Given the description of an element on the screen output the (x, y) to click on. 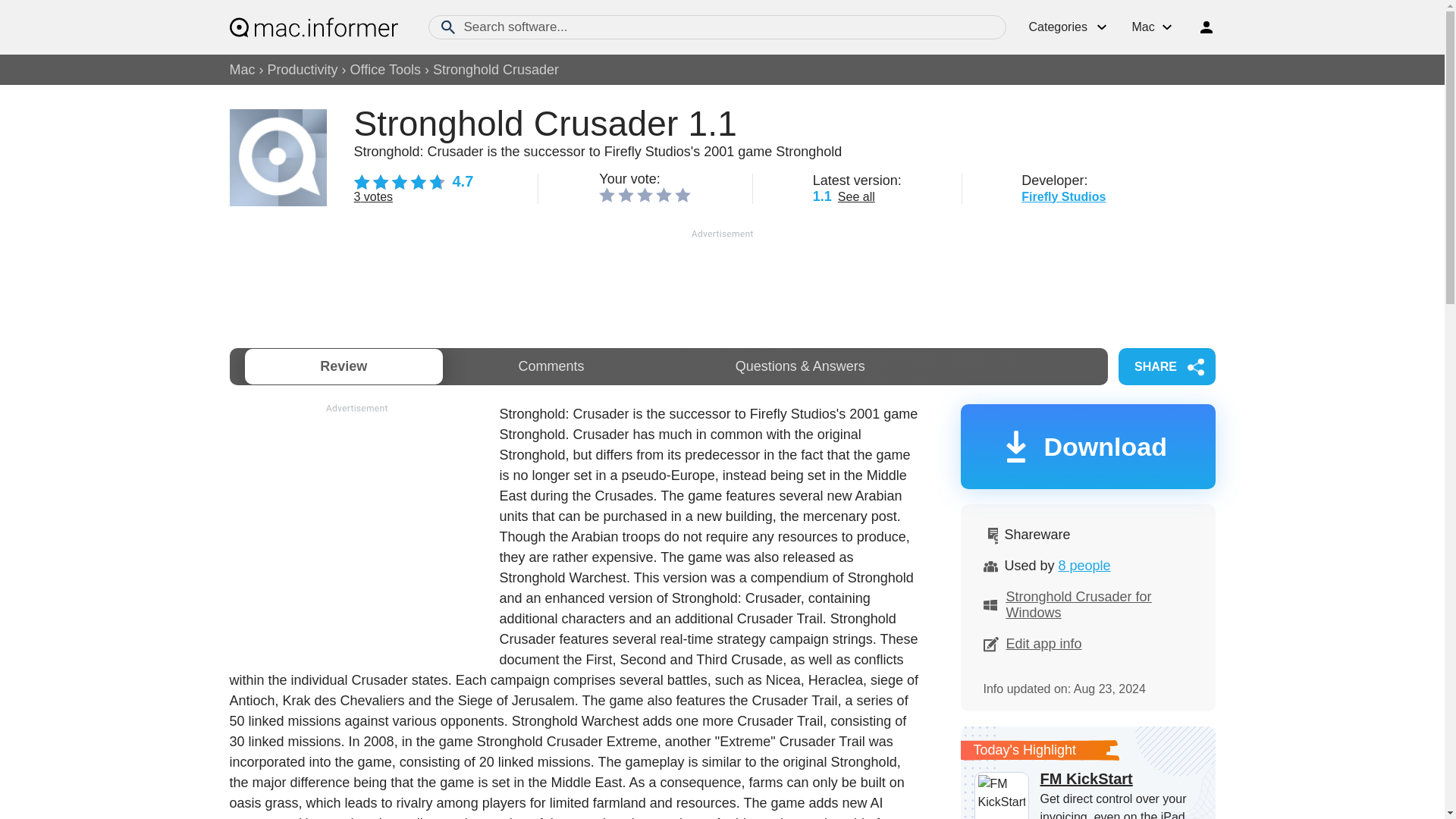
Review (343, 366)
Software downloads and reviews (312, 26)
Review (343, 366)
Stronghold Crusader (495, 69)
Comments (550, 366)
Advertisement (355, 522)
Search (447, 27)
1 (605, 193)
Firefly Studios (1063, 195)
Advertisement (721, 279)
